Given the description of an element on the screen output the (x, y) to click on. 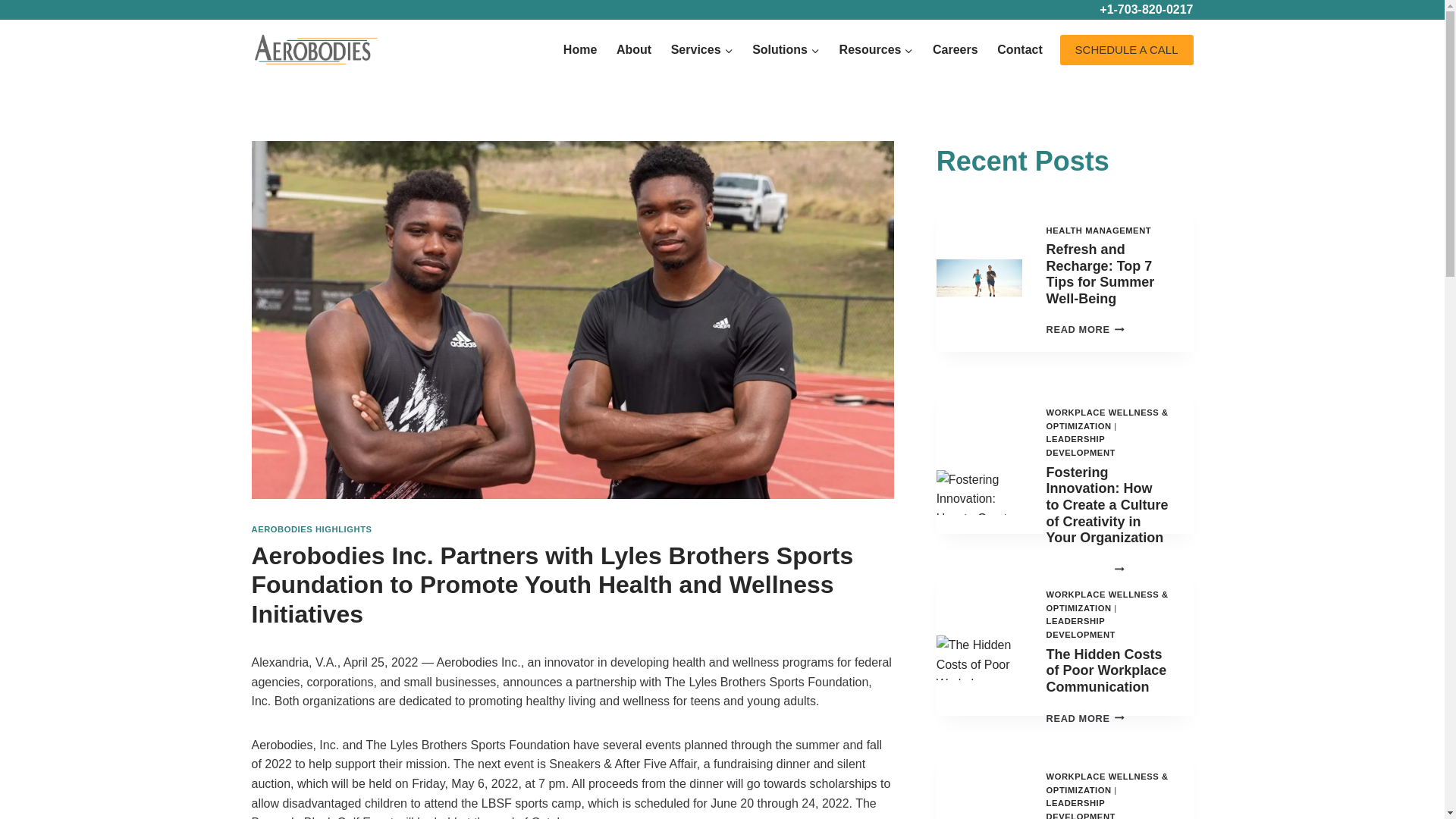
Home (580, 49)
Contact (1019, 49)
The Hidden Costs of Poor Workplace Communication 5 (979, 657)
Services (701, 49)
About (634, 49)
Careers (955, 49)
SCHEDULE A CALL (1126, 50)
Resources (876, 49)
Solutions (785, 49)
